Given the description of an element on the screen output the (x, y) to click on. 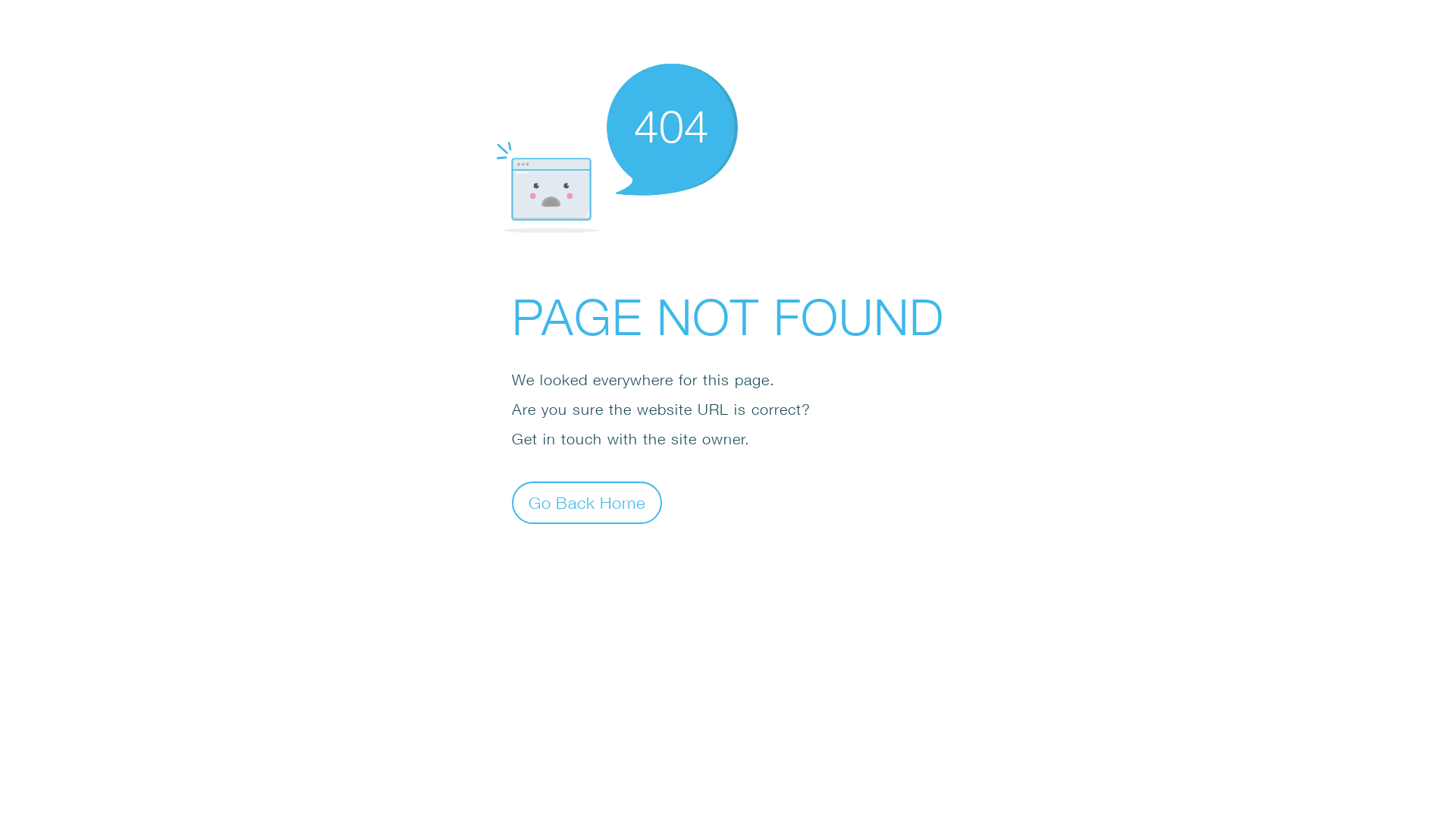
Go Back Home Element type: text (586, 502)
